Given the description of an element on the screen output the (x, y) to click on. 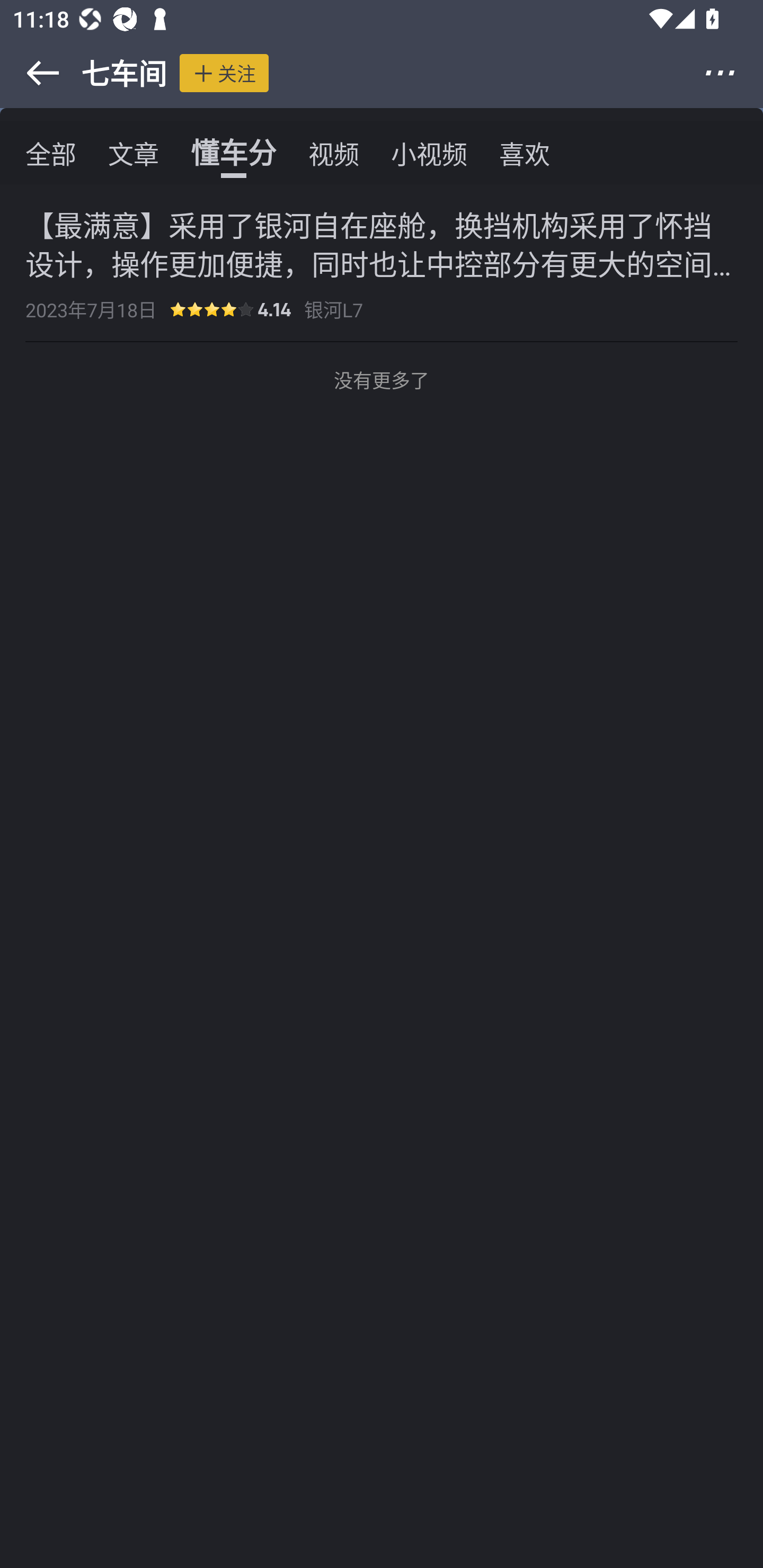
 (30, 72)
 (732, 72)
 关注 (223, 72)
全部 (50, 152)
文章 (133, 152)
懂车分 (233, 152)
视频 (333, 152)
小视频 (428, 152)
喜欢 (524, 152)
